Given the description of an element on the screen output the (x, y) to click on. 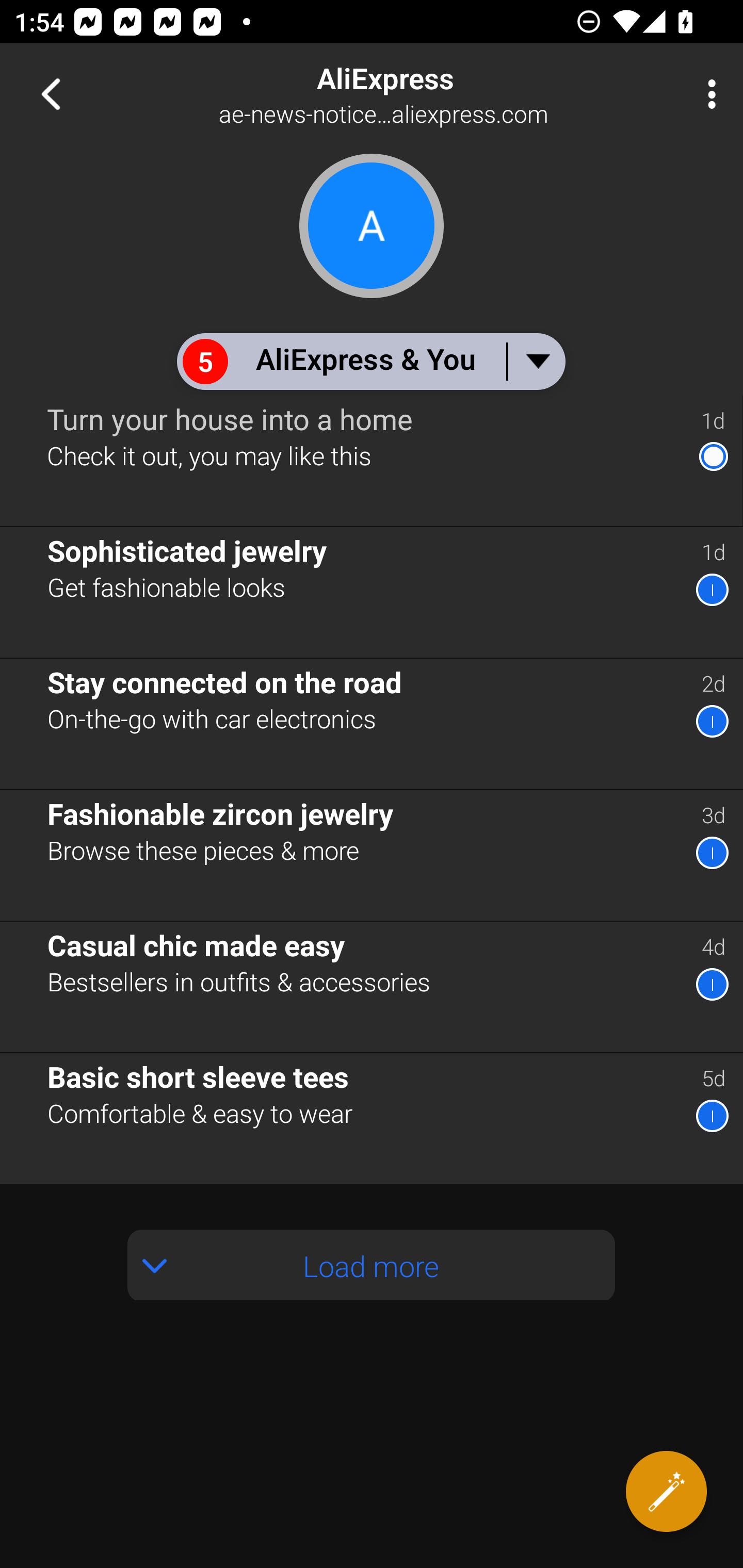
Navigate up (50, 93)
AliExpress ae-news-notice03@mail.aliexpress.com (436, 93)
More Options (706, 93)
5 AliExpress & You (370, 361)
Load more (371, 1264)
